Given the description of an element on the screen output the (x, y) to click on. 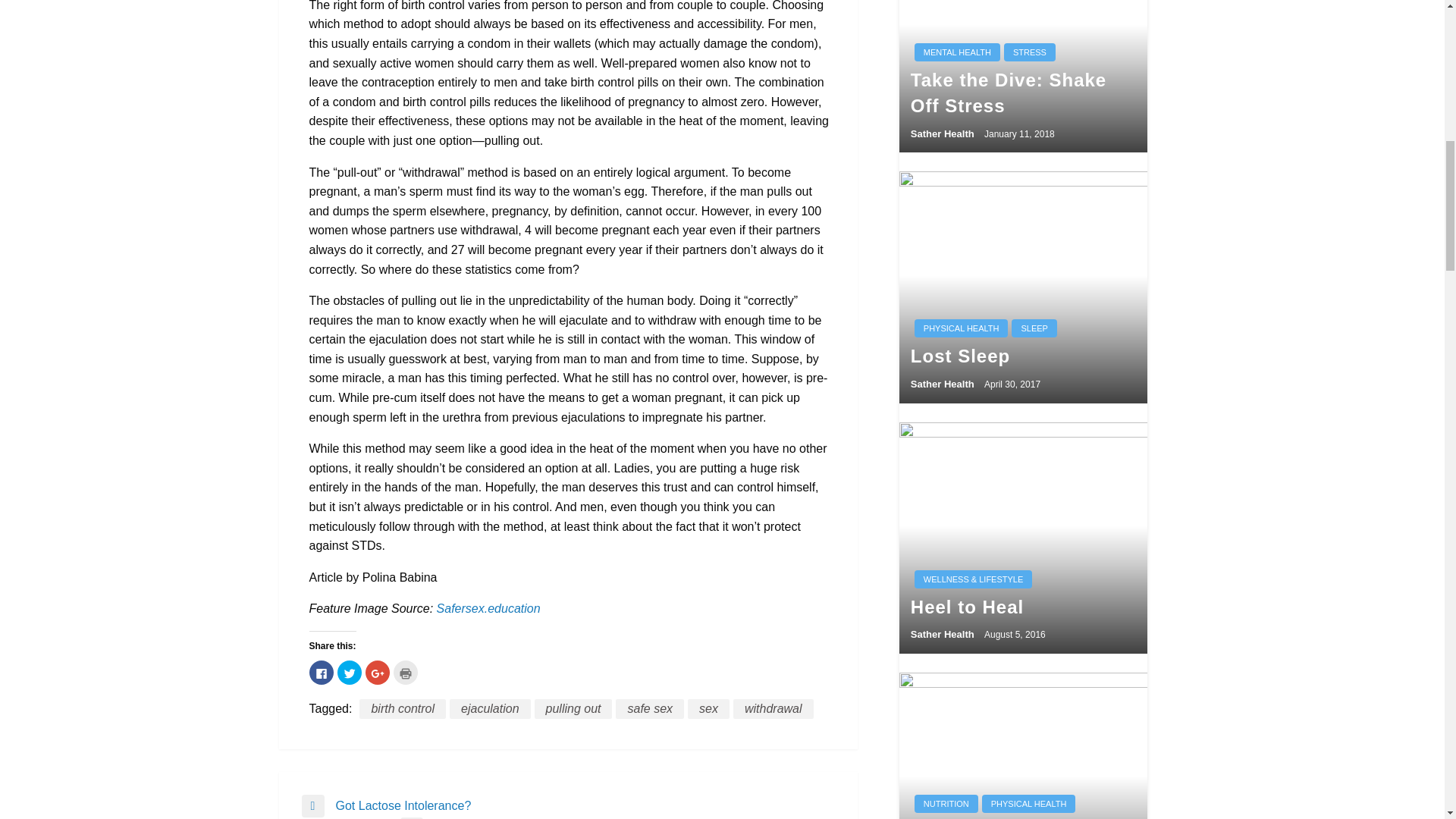
Click to share on Facebook (320, 672)
Click to share on Twitter (348, 672)
Click to print (404, 672)
